Given the description of an element on the screen output the (x, y) to click on. 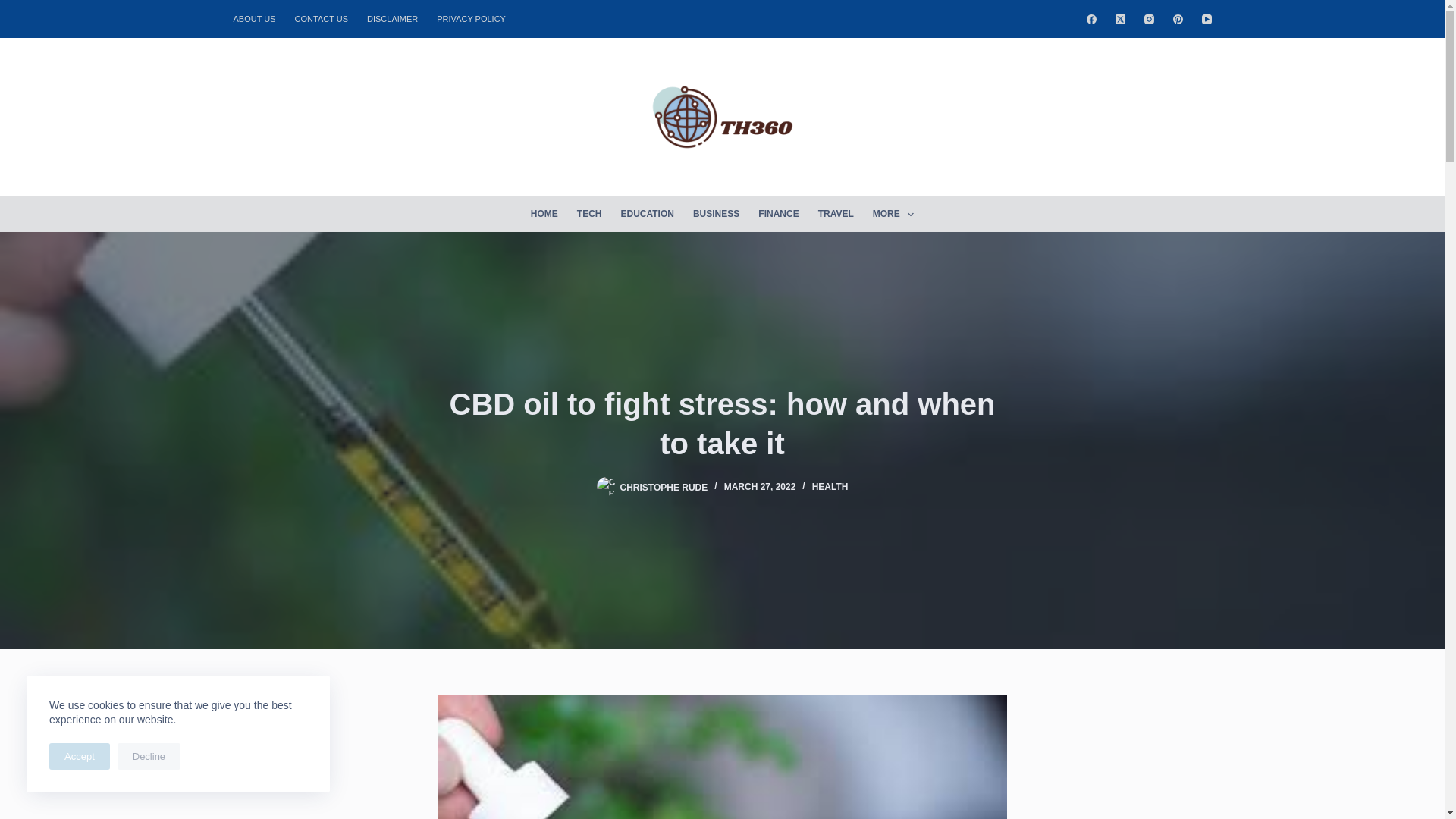
Posts by Christophe Rude (663, 486)
PRIVACY POLICY (471, 18)
Skip to content (15, 7)
CONTACT US (321, 18)
TECH (589, 213)
CBD oil to fight stress: how and when to take it (722, 423)
TRAVEL (835, 213)
HOME (544, 213)
MORE (893, 213)
EDUCATION (646, 213)
